Given the description of an element on the screen output the (x, y) to click on. 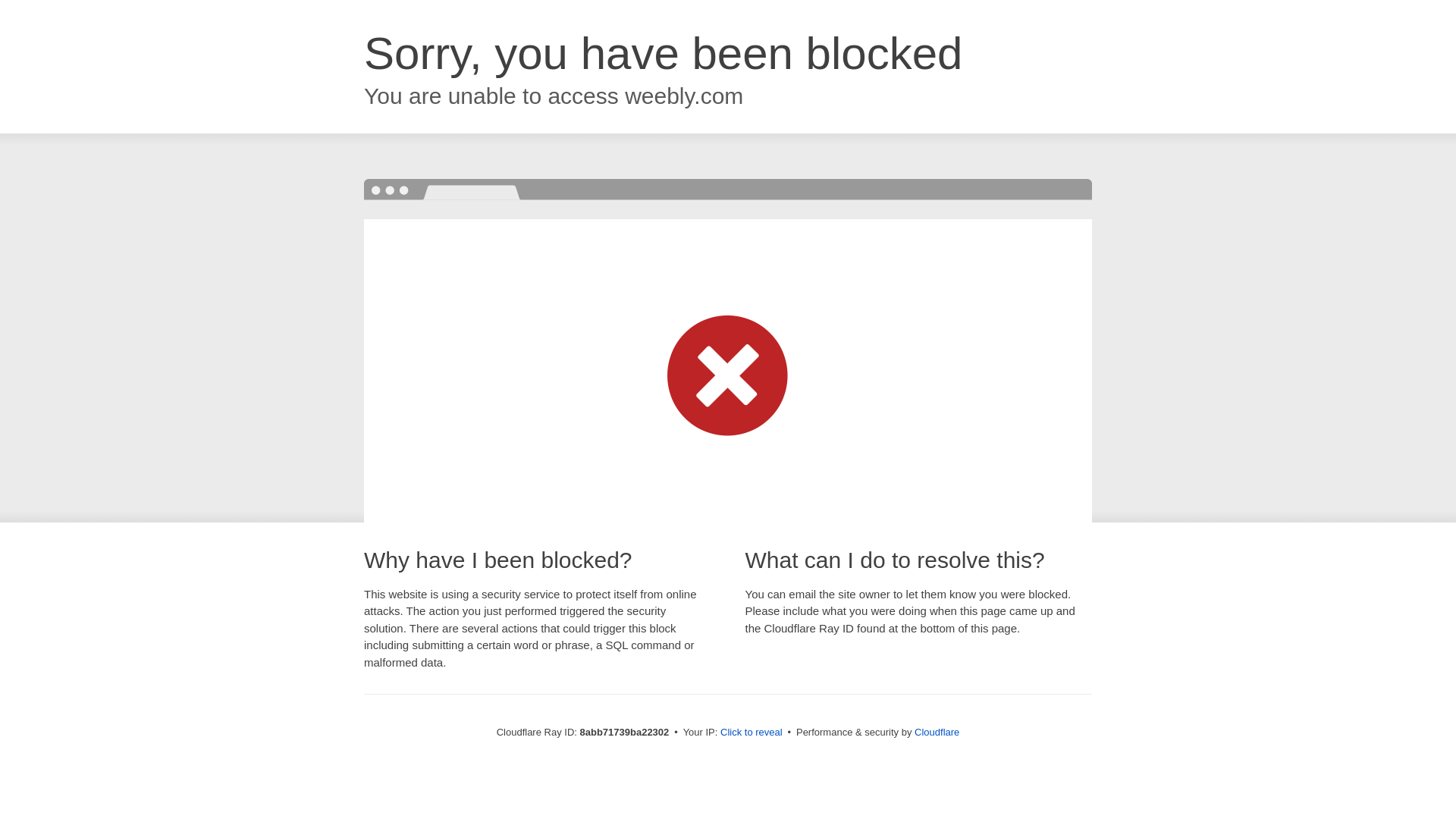
Click to reveal (751, 732)
Cloudflare (936, 731)
